Given the description of an element on the screen output the (x, y) to click on. 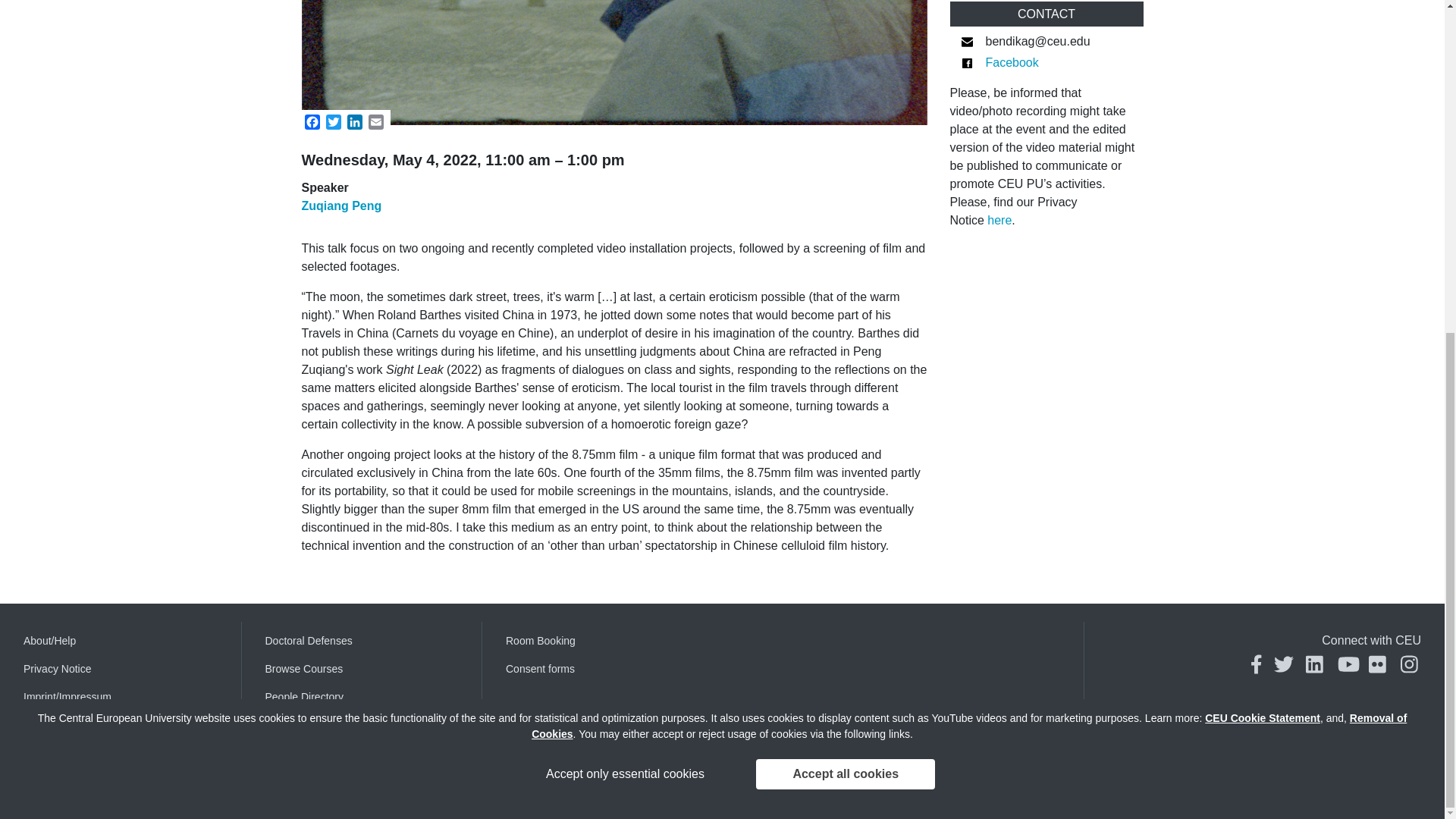
Twitter (333, 122)
Zuqiang Peng (341, 205)
Facebook (312, 122)
here (999, 219)
Facebook (1012, 62)
Email (376, 122)
LinkedIn (354, 122)
